Given the description of an element on the screen output the (x, y) to click on. 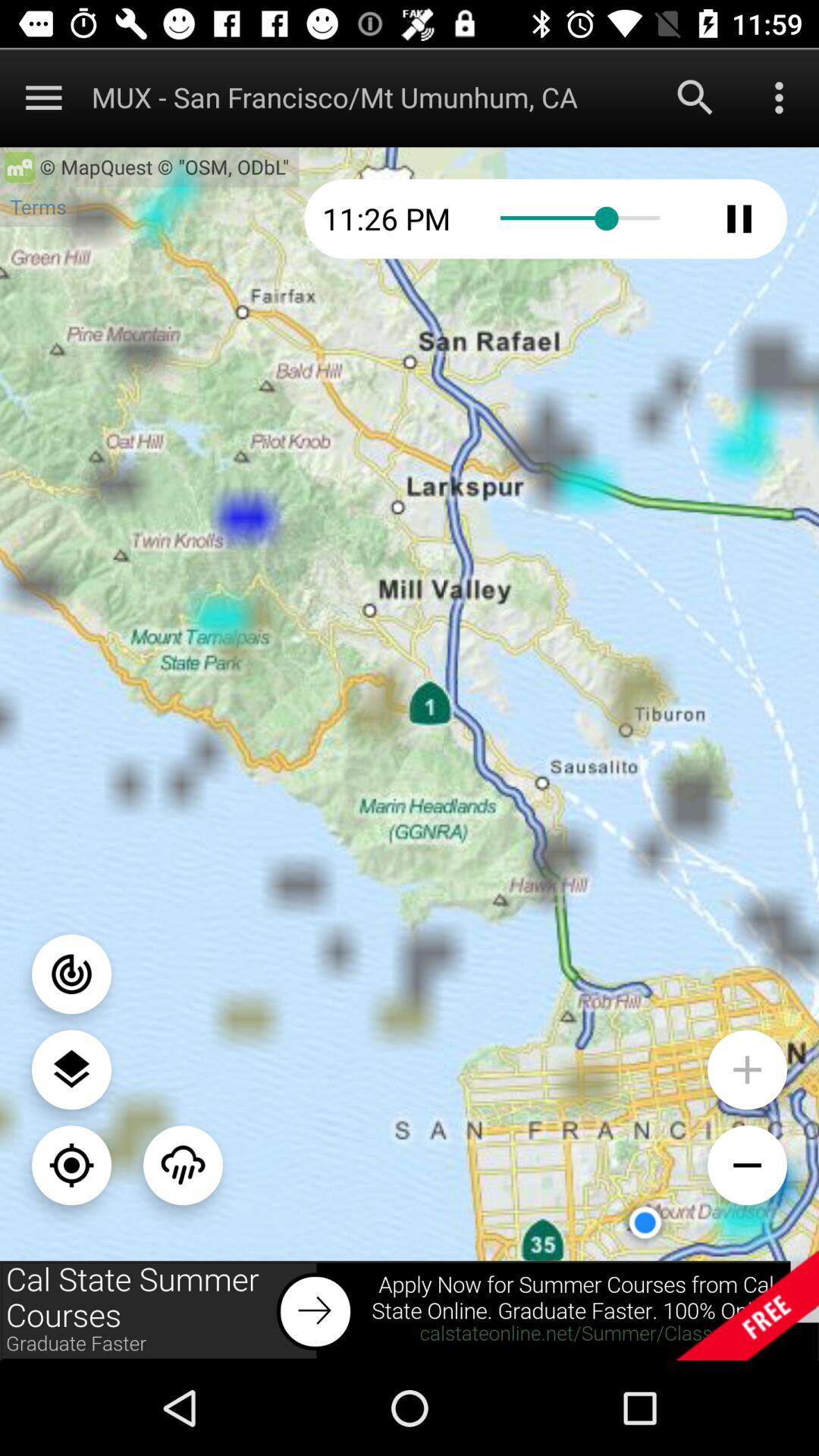
playing option (739, 218)
